Given the description of an element on the screen output the (x, y) to click on. 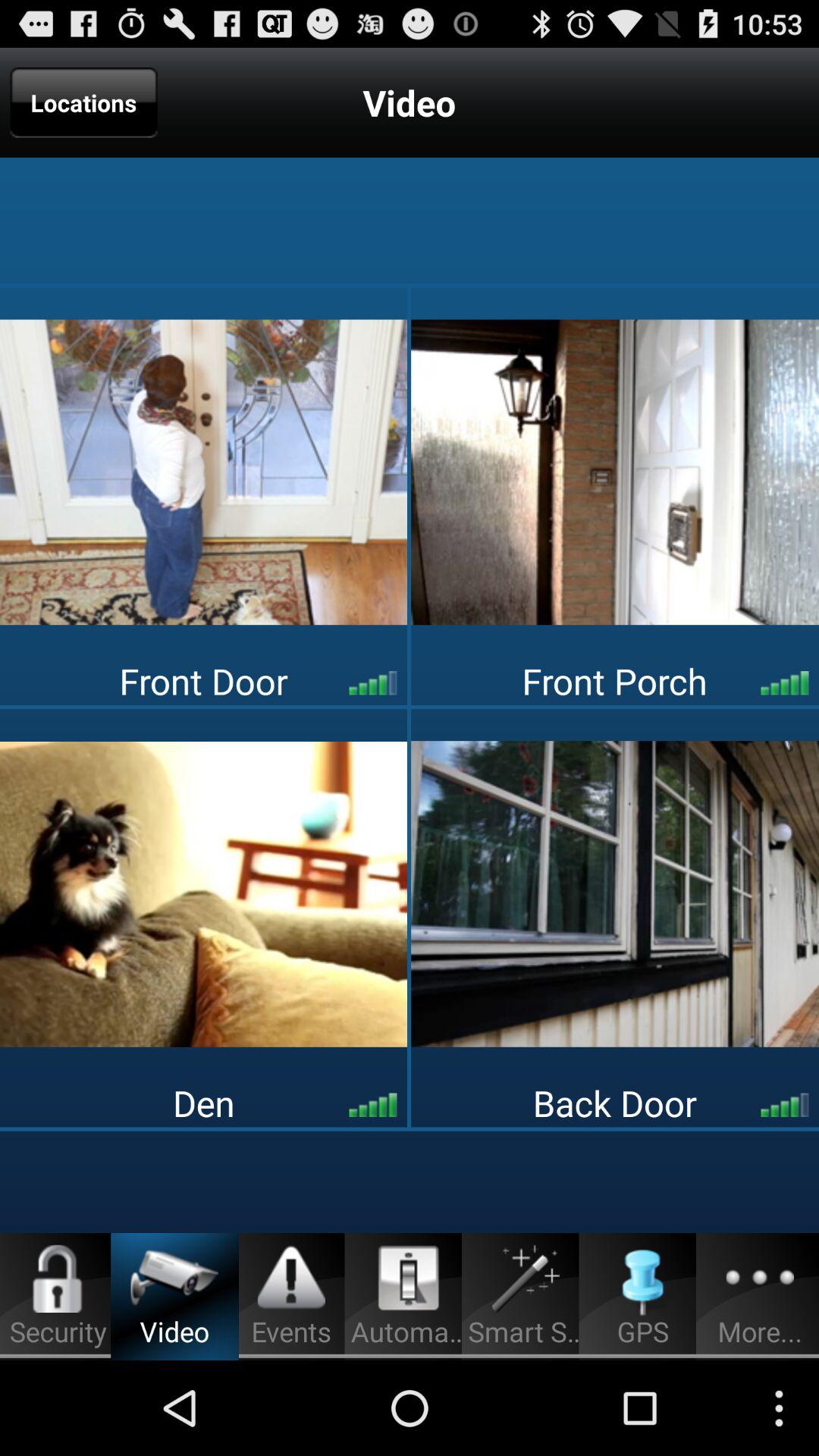
switch to front door view (203, 471)
